Given the description of an element on the screen output the (x, y) to click on. 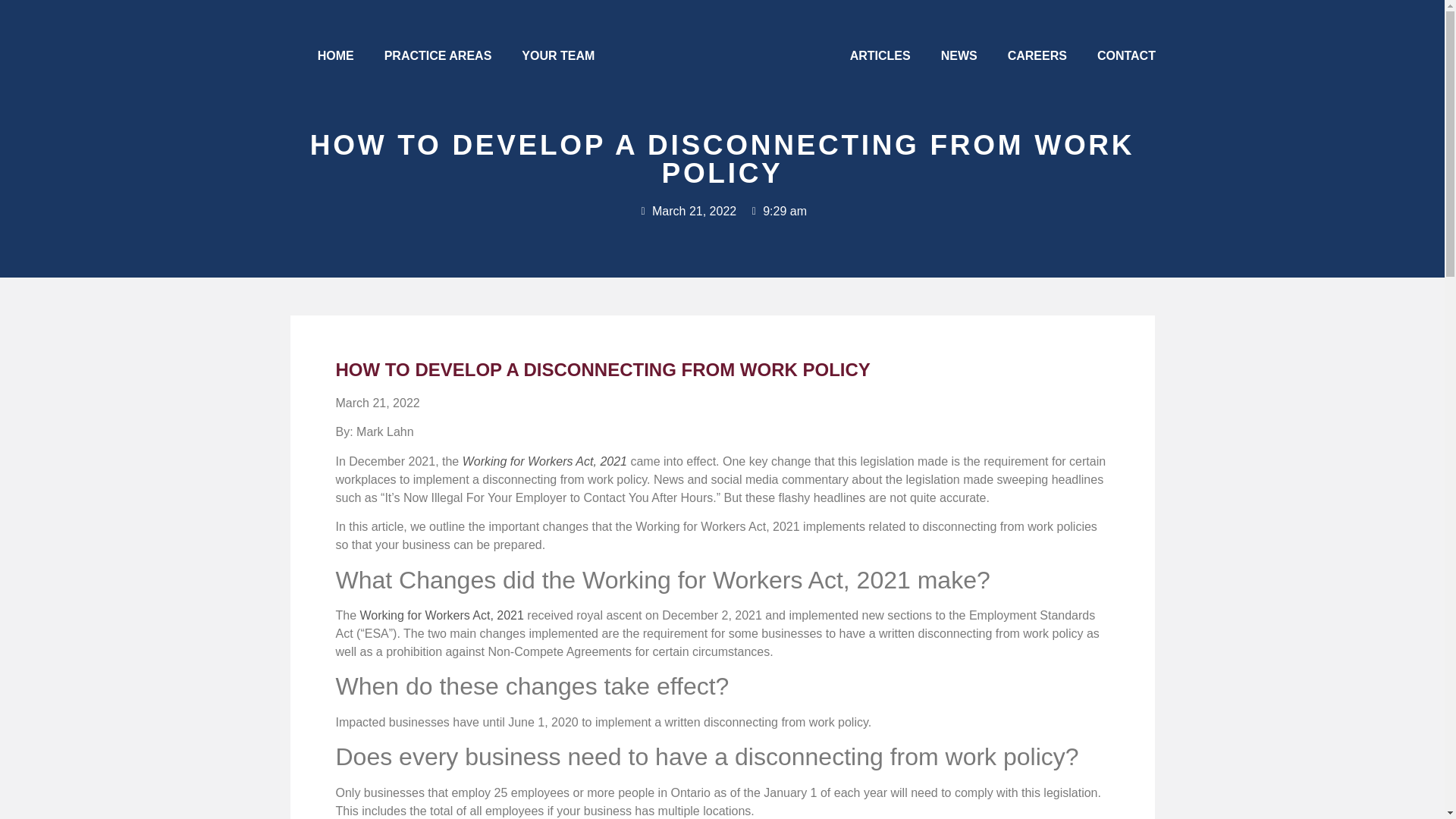
YOUR TEAM (558, 55)
HOME (335, 55)
PRACTICE AREAS (437, 55)
